Given the description of an element on the screen output the (x, y) to click on. 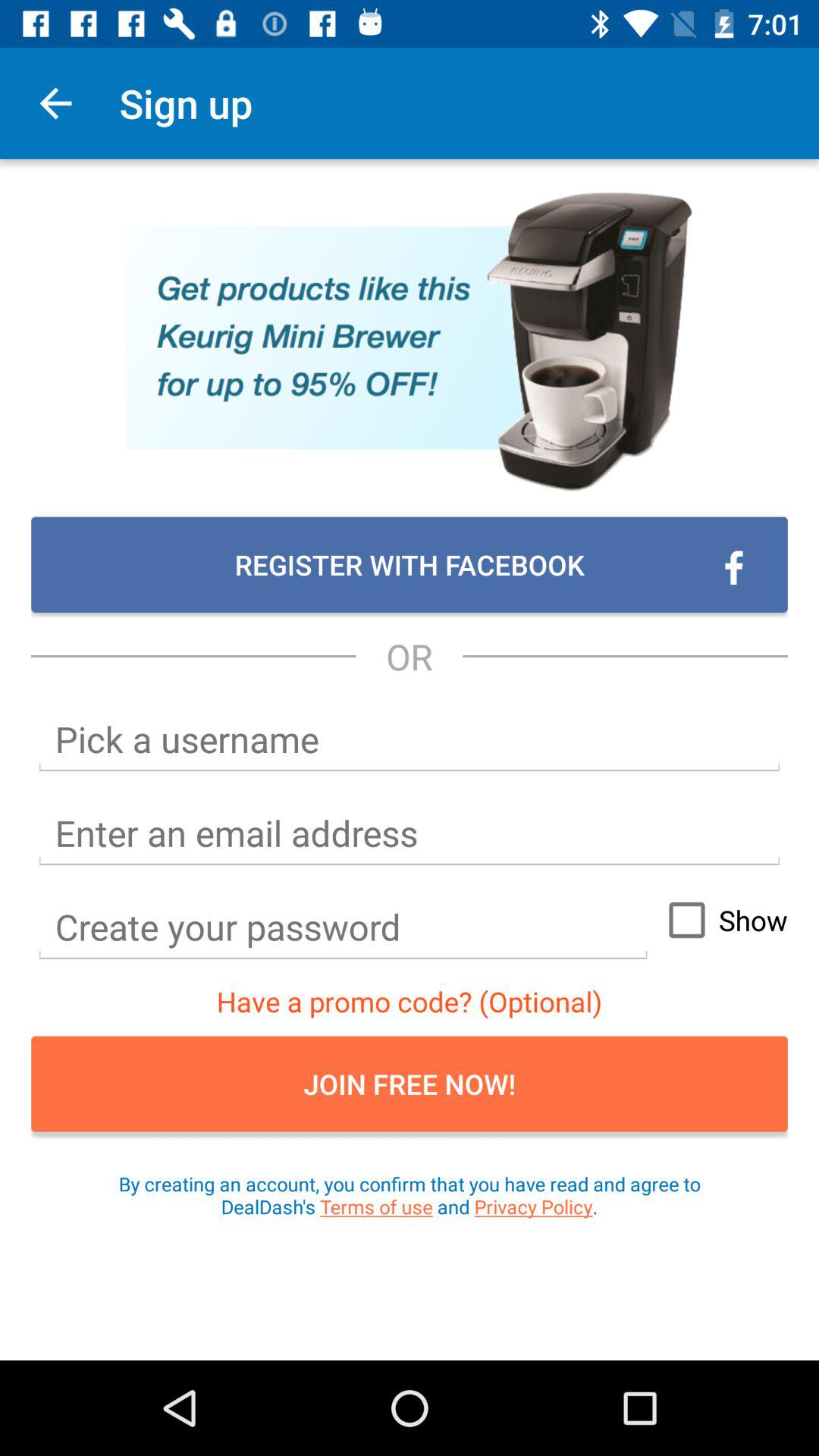
flip to by creating an icon (409, 1195)
